Given the description of an element on the screen output the (x, y) to click on. 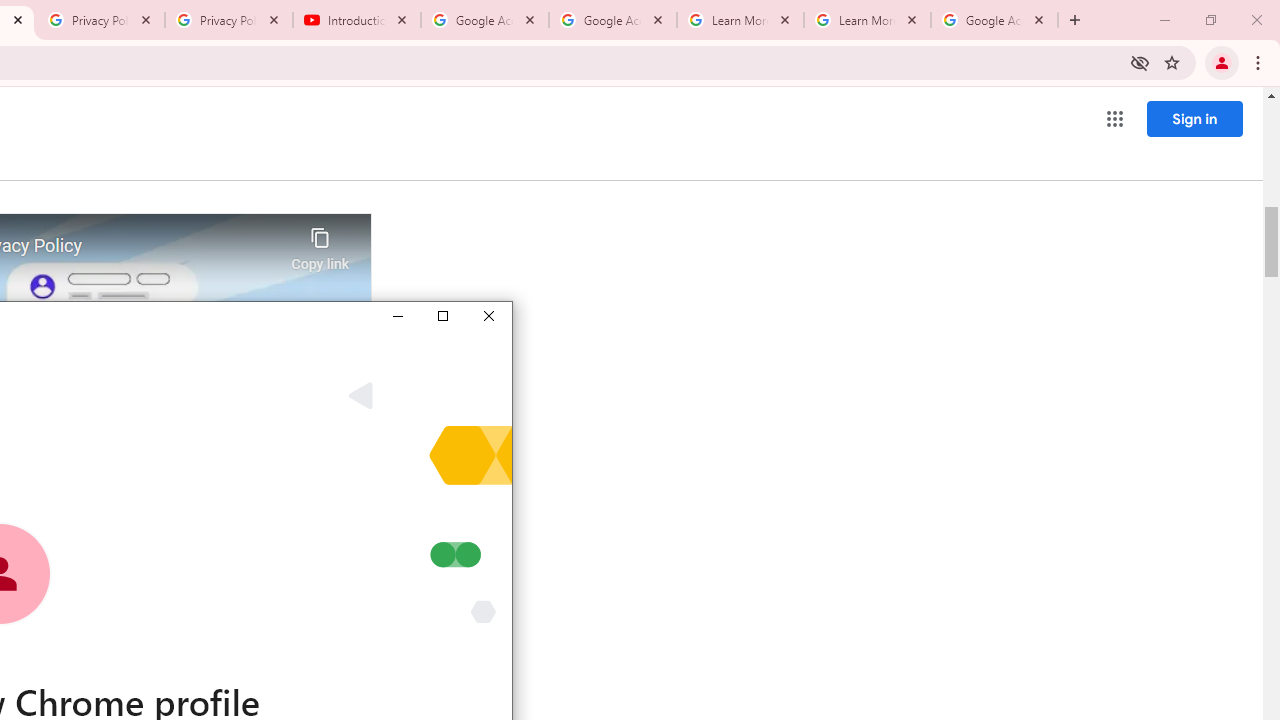
Third-party cookies blocked (1139, 62)
